Given the description of an element on the screen output the (x, y) to click on. 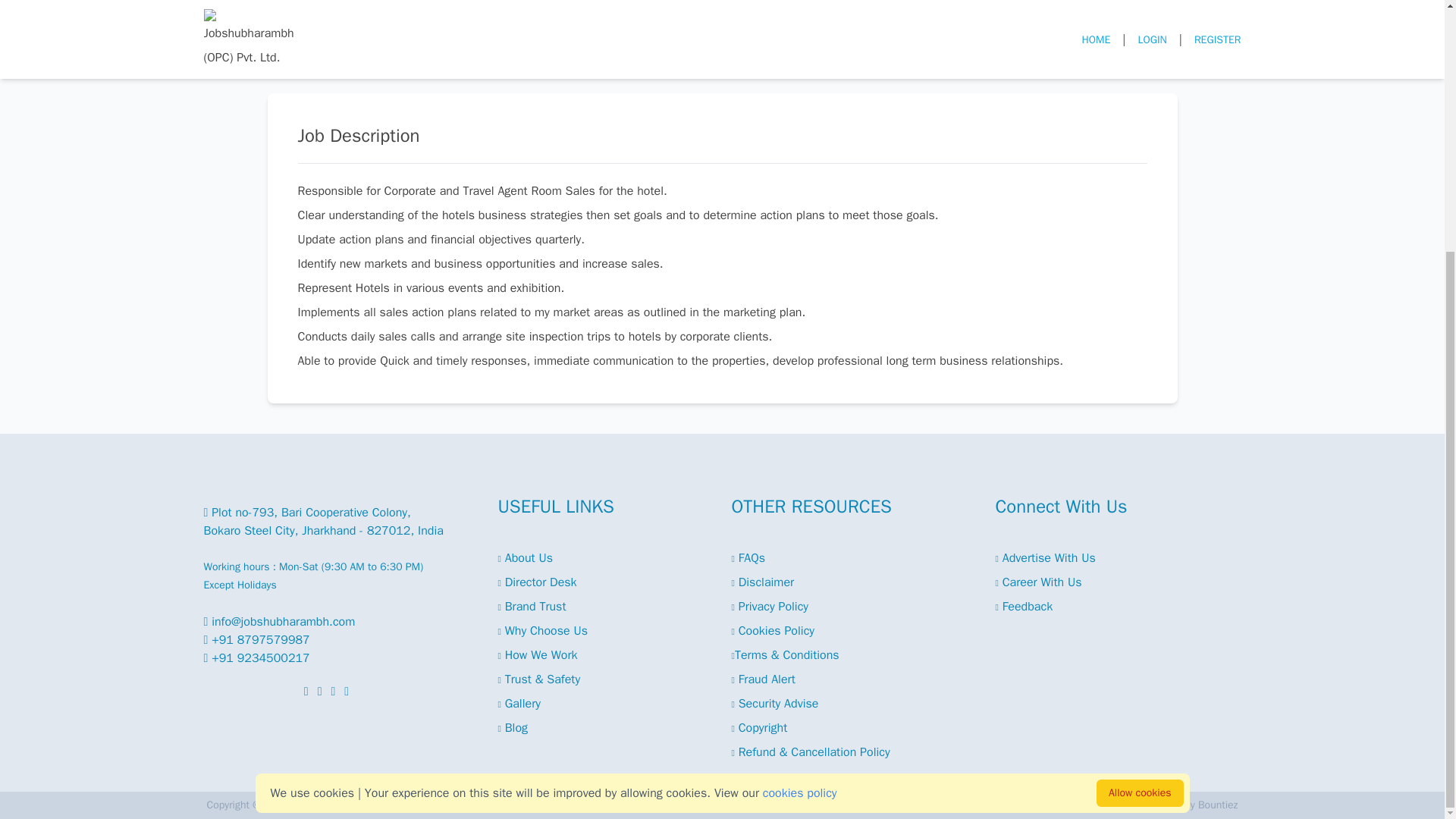
About Us (524, 557)
cookies policy (799, 438)
Blog (512, 727)
Disclaimer (761, 581)
How We Work (536, 654)
Allow cookies (1139, 438)
Director Desk (536, 581)
Security Advise (774, 703)
Fraud Alert (762, 679)
Advertise With Us (1044, 557)
